Given the description of an element on the screen output the (x, y) to click on. 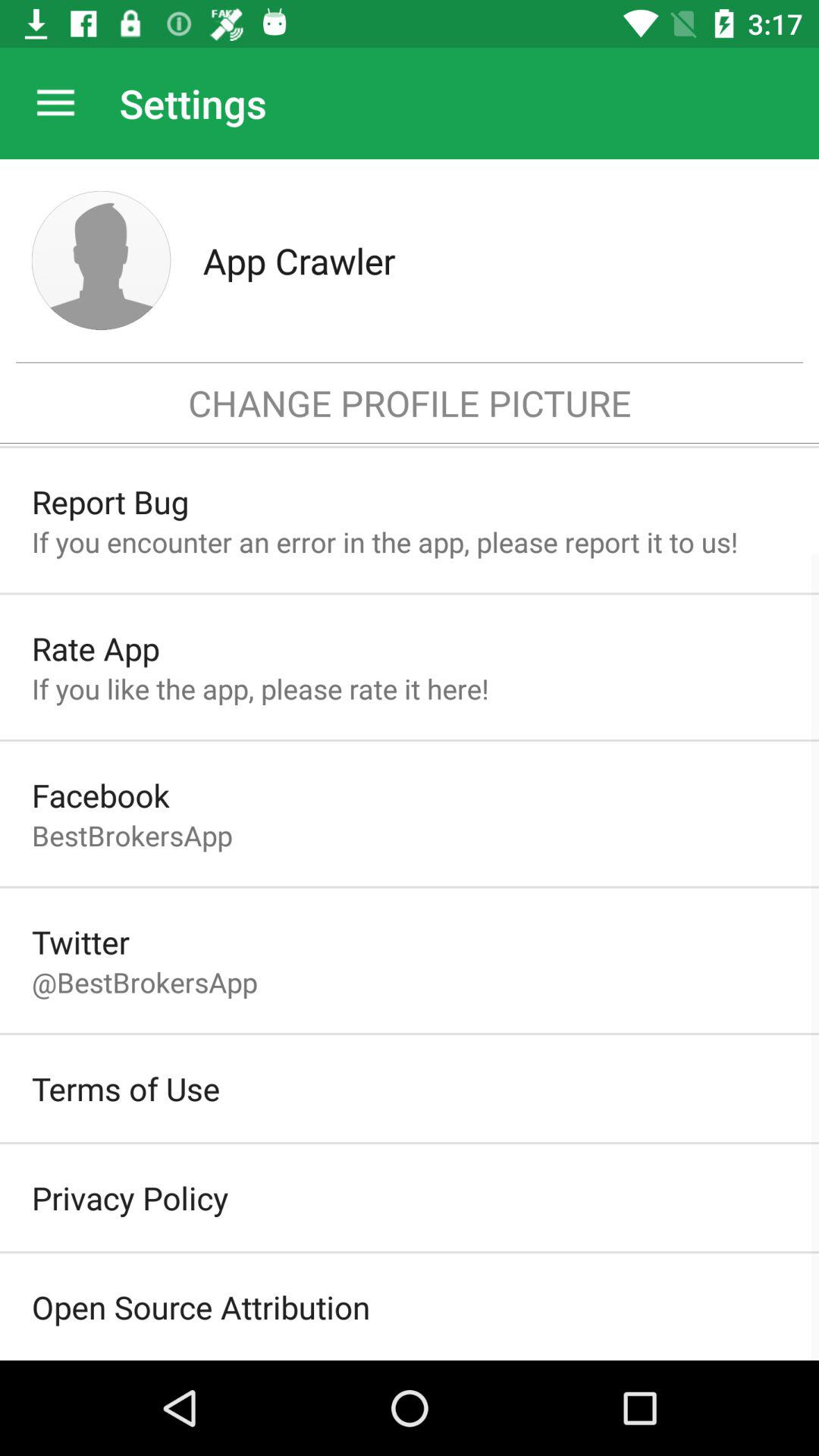
scroll to twitter icon (80, 941)
